Given the description of an element on the screen output the (x, y) to click on. 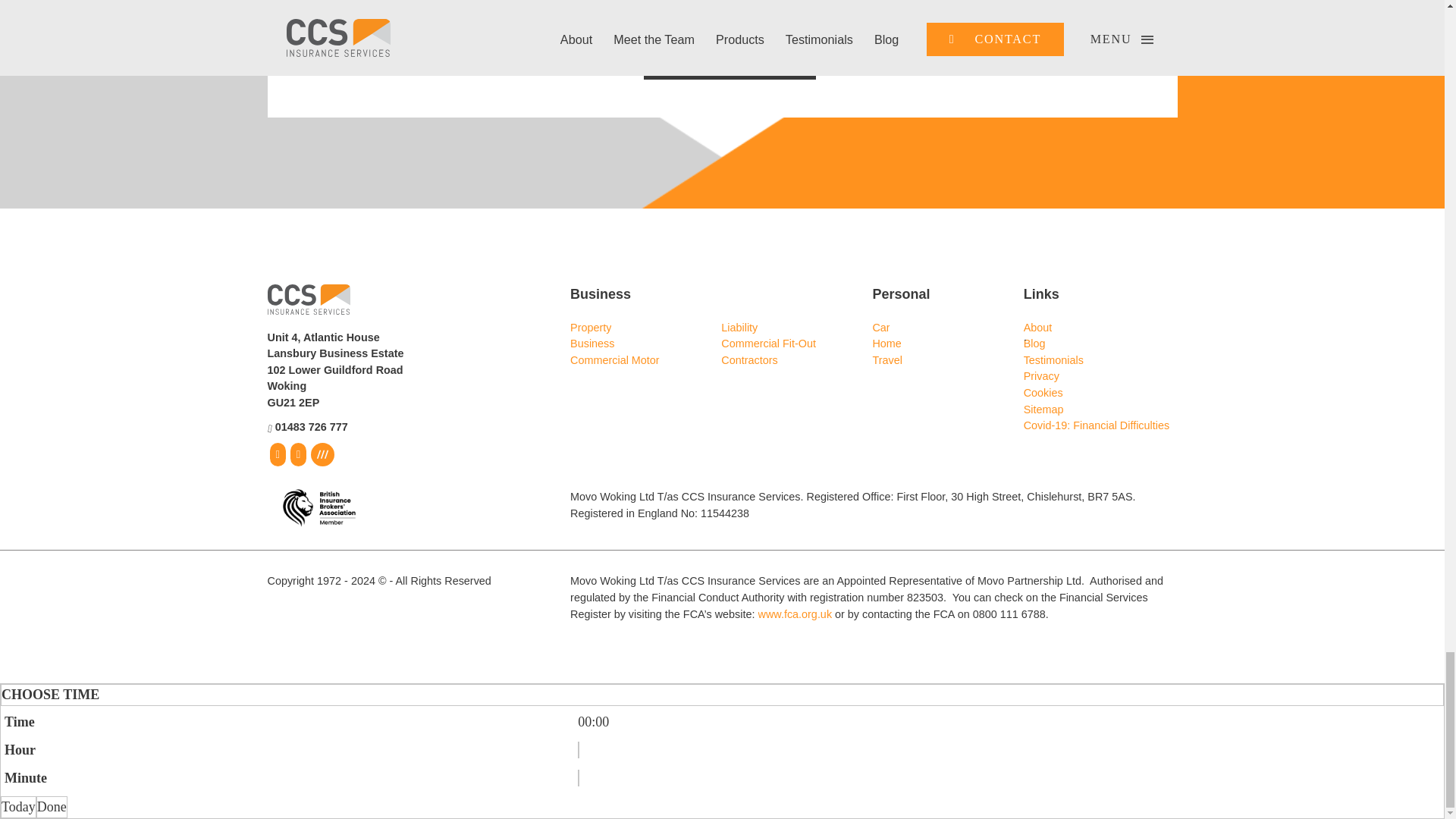
Biba (318, 507)
Follow us on LinkedIn (298, 454)
Follow us on What3Words (322, 454)
Biba (310, 507)
Submit (702, 56)
Follow us on Twitter (276, 454)
